Given the description of an element on the screen output the (x, y) to click on. 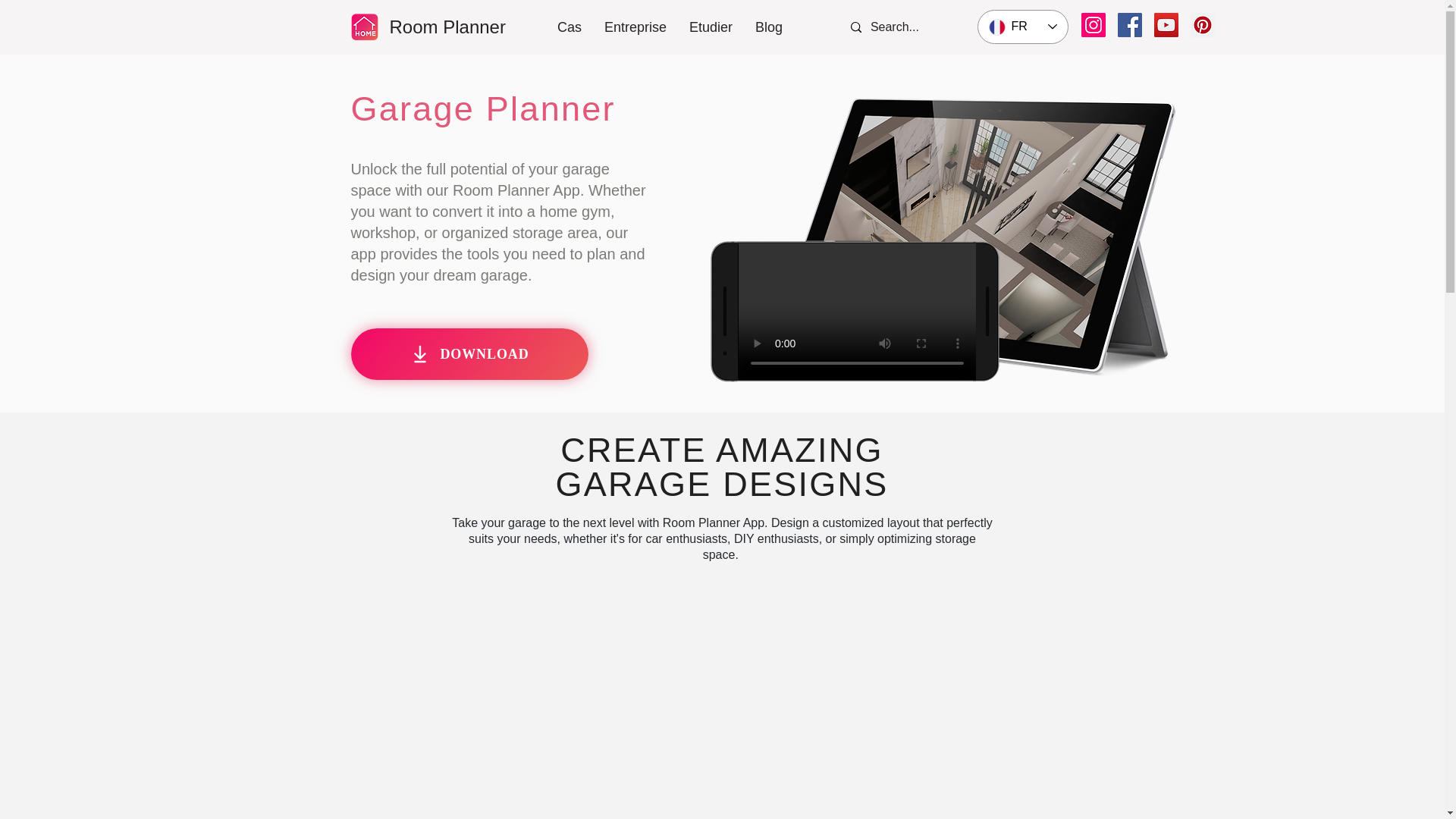
3D Interior Design App (975, 235)
Room Planner (447, 26)
Cas (569, 26)
Entreprise (635, 26)
DOWNLOAD (469, 354)
Blog (768, 26)
Etudier (711, 26)
